Given the description of an element on the screen output the (x, y) to click on. 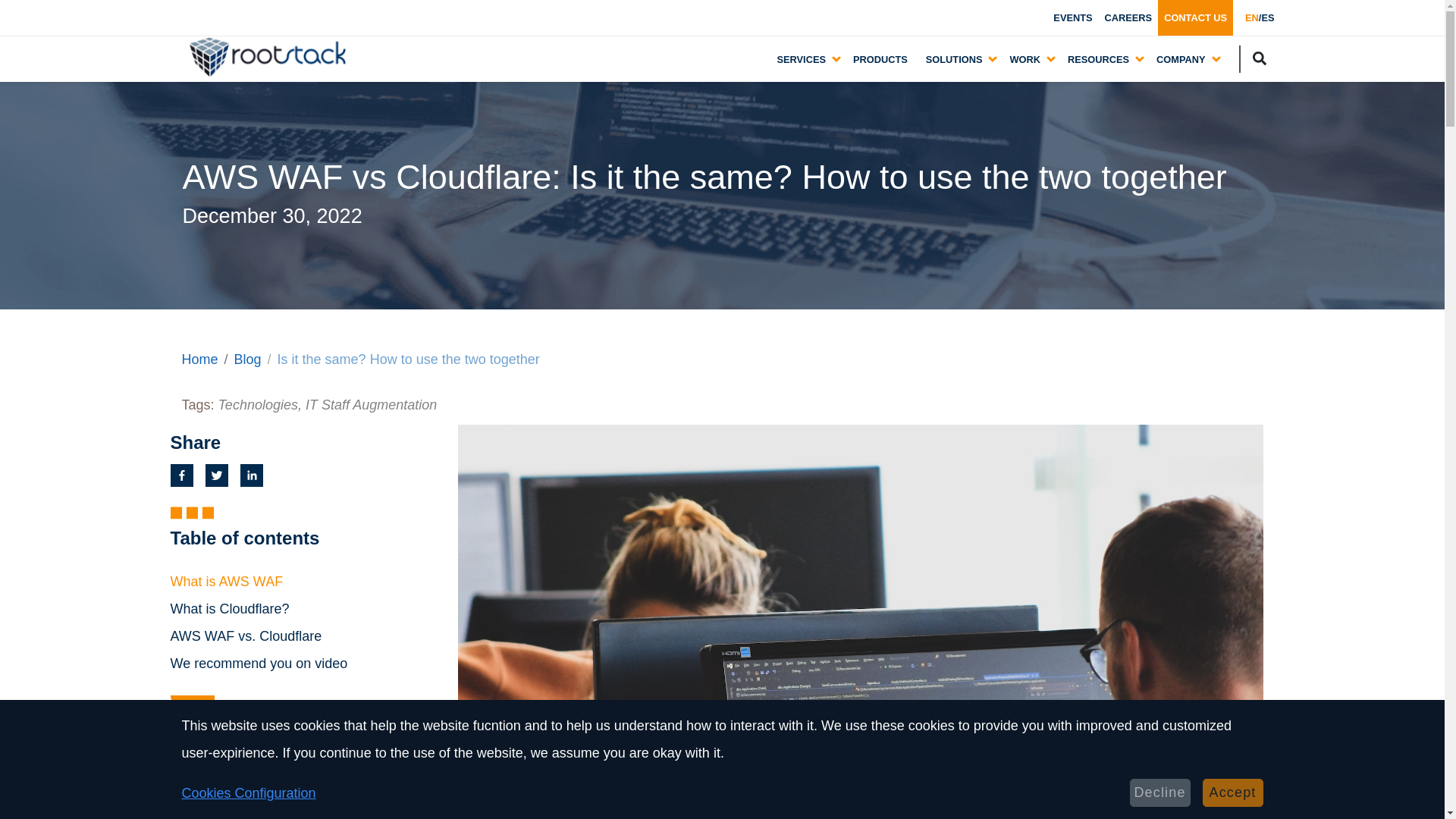
CONTACT US (1195, 18)
What is AWS and what are its services? (307, 814)
AWS WAF vs. Cloudflare (245, 635)
CAREERS (1128, 18)
PRODUCTS (880, 58)
SOLUTIONS (954, 58)
SERVICES (800, 58)
RESOURCES (1098, 58)
WORK (1024, 58)
COMPANY (1180, 58)
Is it the same? How to use the two together (409, 359)
We recommend you on video (258, 663)
What is AWS WAF (226, 581)
Home (200, 359)
EVENTS (1071, 18)
